Given the description of an element on the screen output the (x, y) to click on. 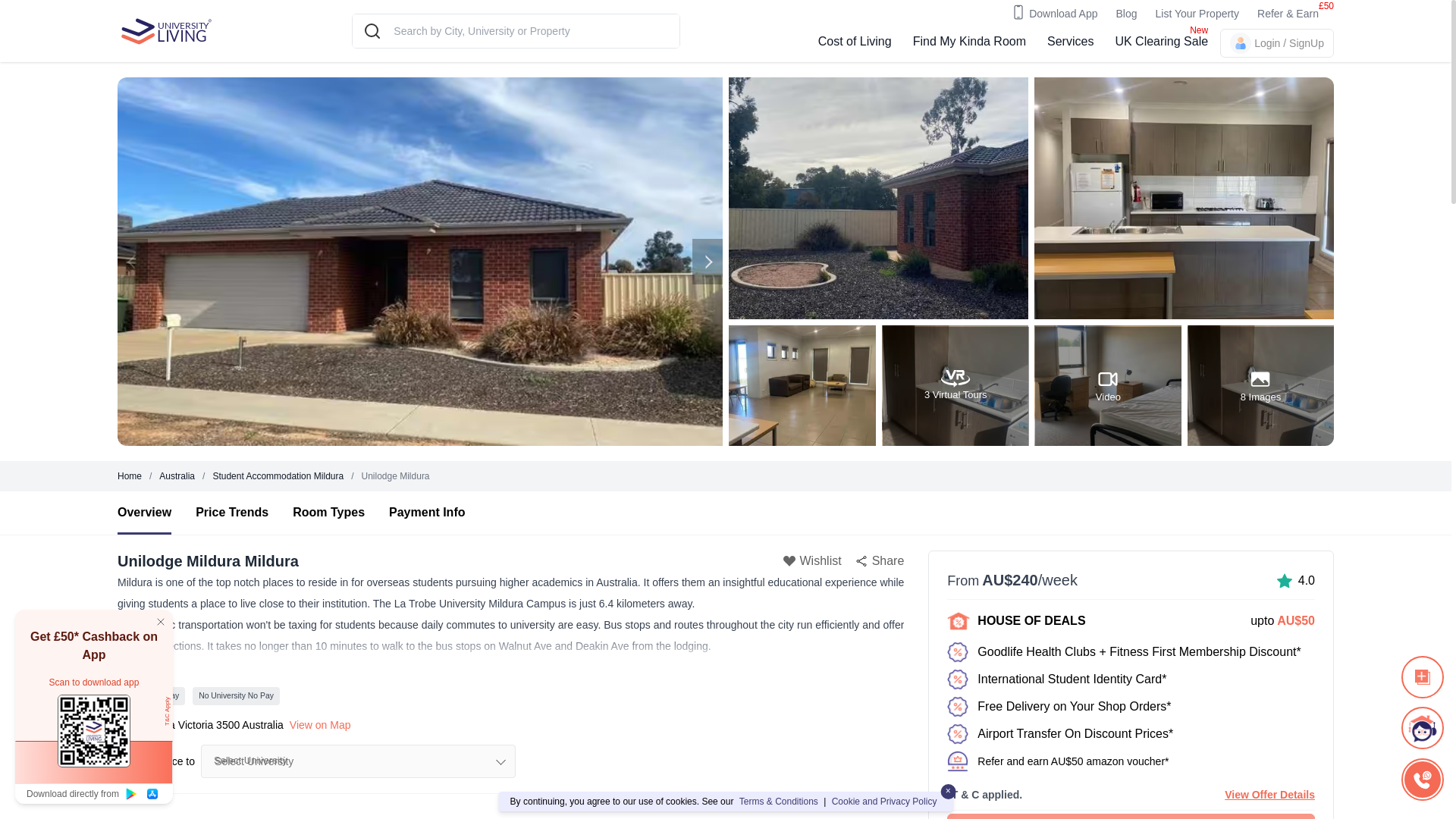
Blog (1126, 13)
Find My Kinda Room (969, 43)
Services (1069, 43)
Cost of Living (854, 43)
Others (957, 706)
List Your Property (1198, 13)
UL Exclusive Offer (957, 761)
Others (957, 679)
